Given the description of an element on the screen output the (x, y) to click on. 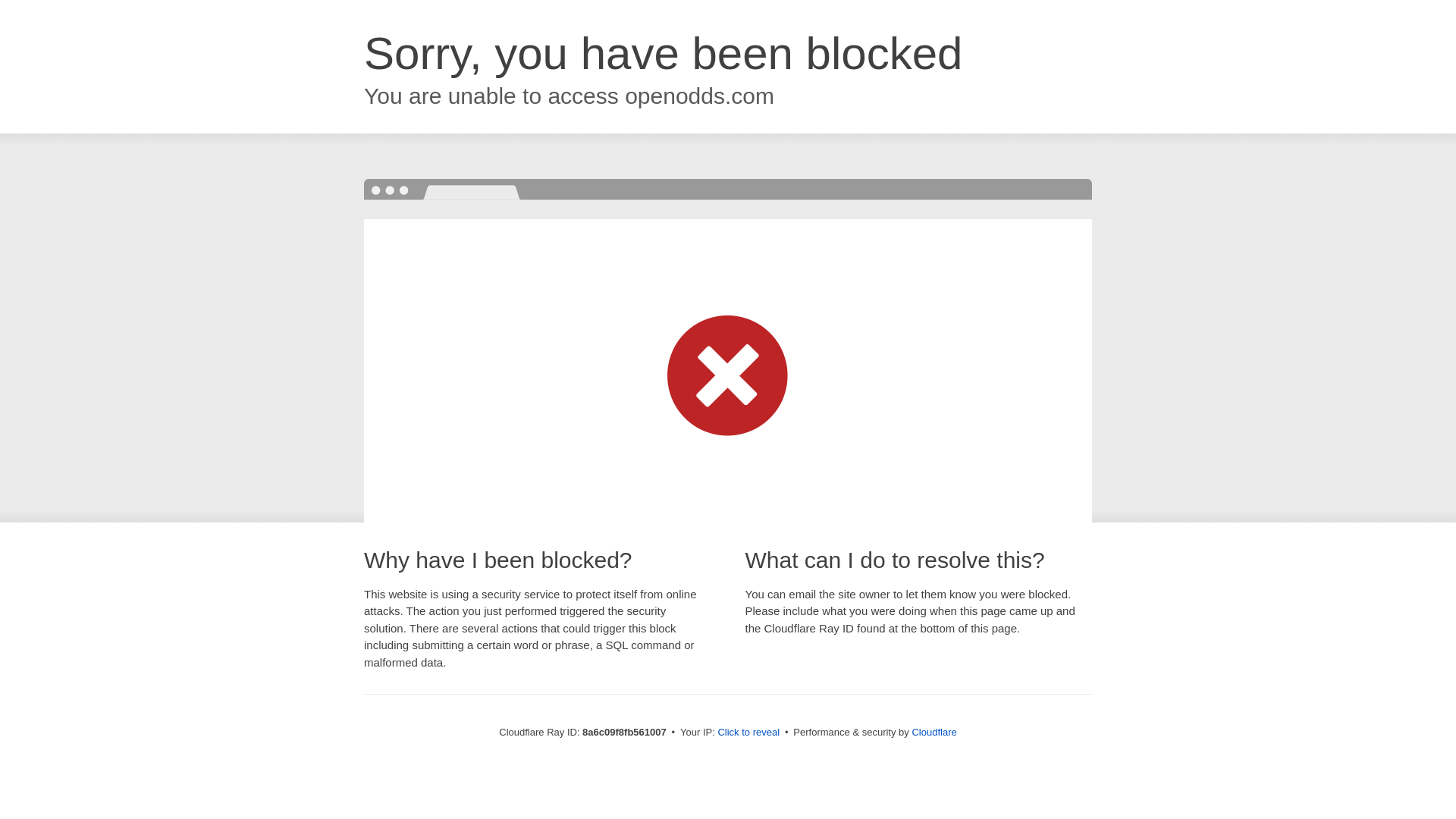
Cloudflare (933, 731)
Click to reveal (747, 732)
